Given the description of an element on the screen output the (x, y) to click on. 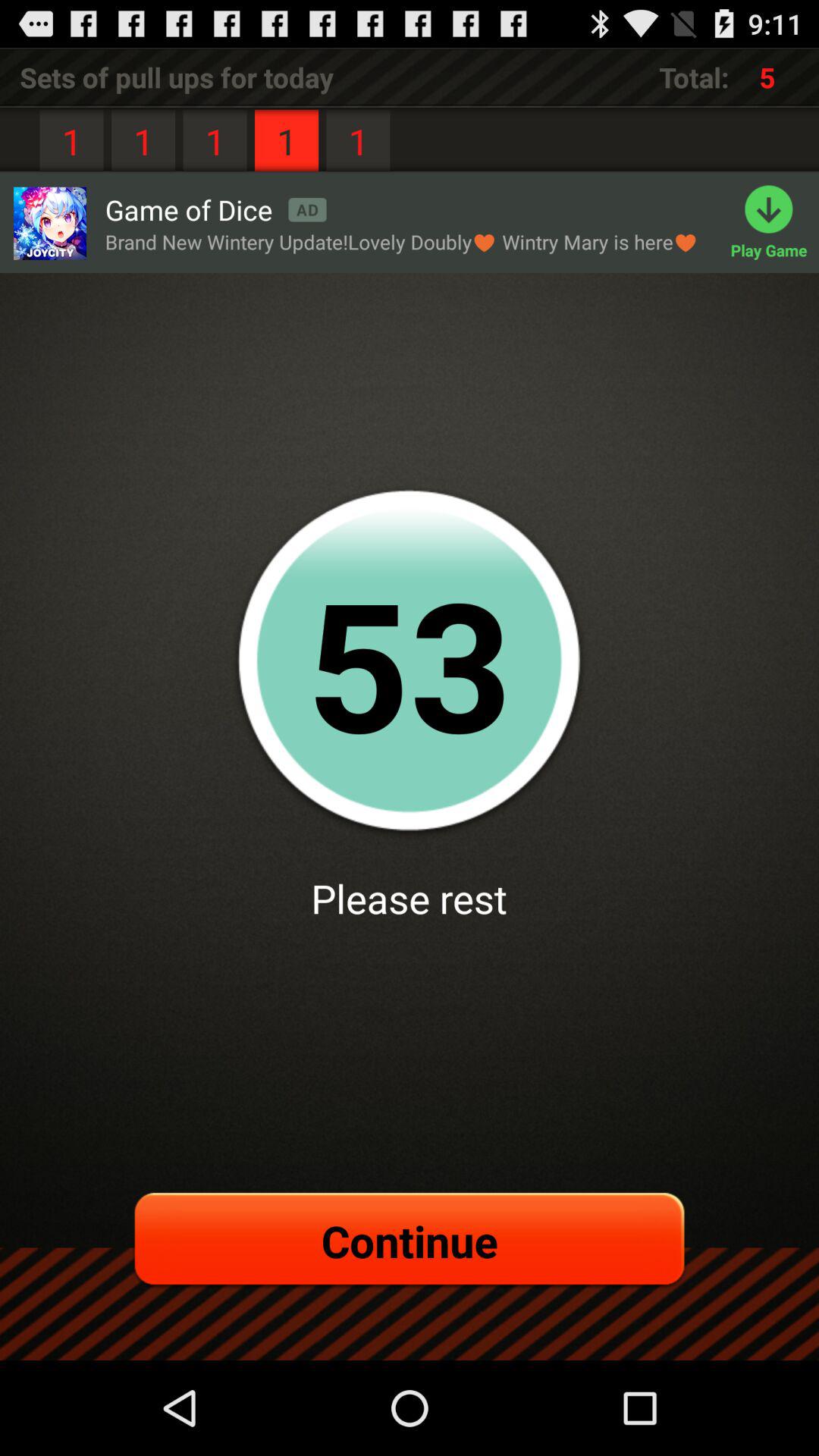
scroll to the play game (774, 223)
